Given the description of an element on the screen output the (x, y) to click on. 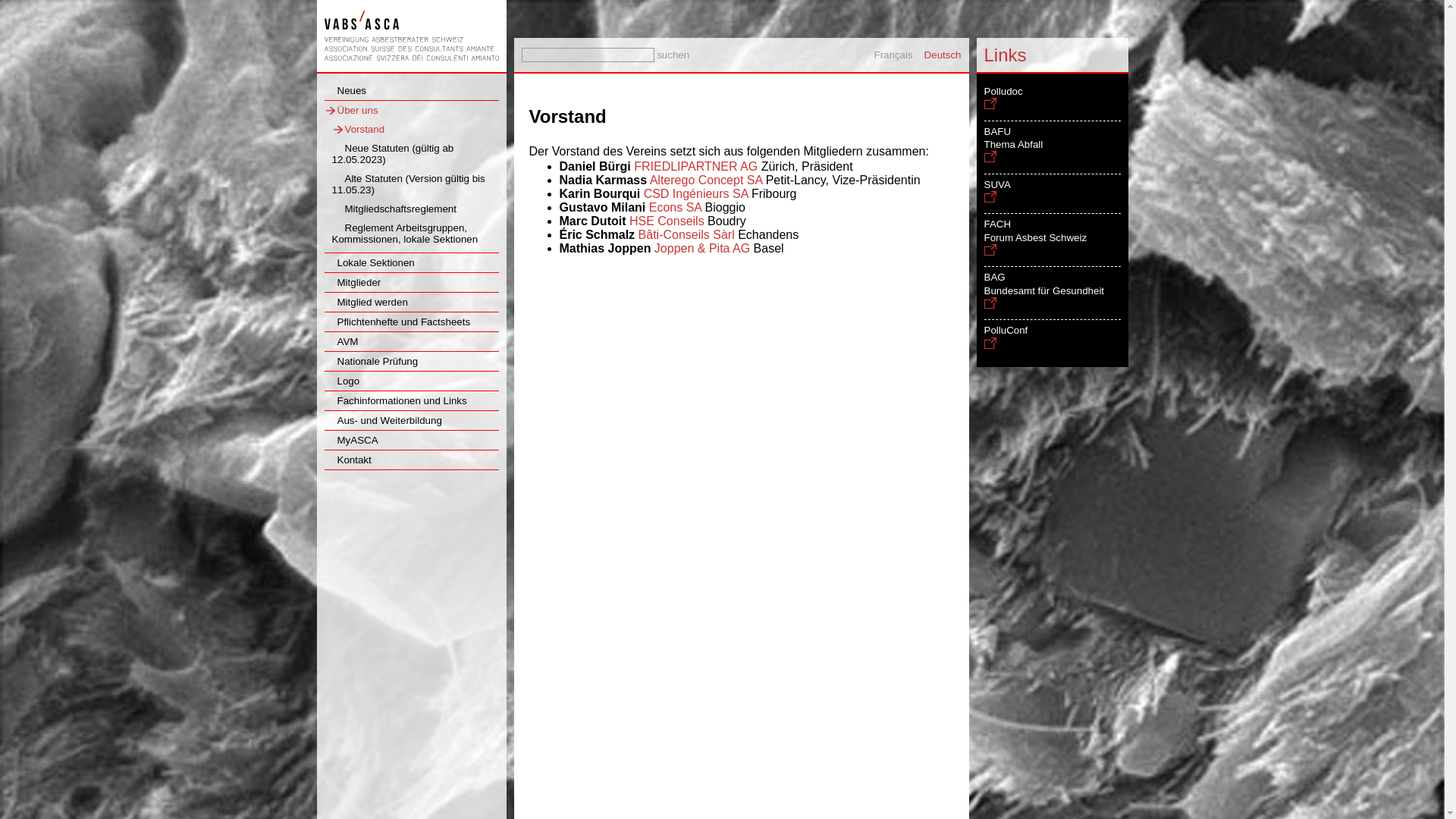
Deutsch Element type: text (942, 53)
Alterego Concept SA Element type: text (705, 179)
Mitglieder Element type: text (352, 282)
Mitglied werden Element type: text (365, 301)
Lokale Sektionen Element type: text (369, 262)
suchen Element type: text (672, 53)
Mitgliedschaftsreglement Element type: text (394, 208)
Econs SA Element type: text (675, 206)
Pflichtenhefte und Factsheets Element type: text (397, 321)
Fachinformationen und Links Element type: text (395, 400)
Kontakt Element type: text (347, 459)
suchen Element type: text (21, 7)
Logo Element type: text (342, 380)
Neues Element type: text (345, 90)
FRIEDLIPARTNER AG Element type: text (695, 166)
Aus- und Weiterbildung Element type: text (383, 420)
Vorstand Element type: text (358, 128)
AVM Element type: text (341, 341)
MyASCA Element type: text (351, 439)
HSE Conseils Element type: text (666, 220)
Reglement Arbeitsgruppen, Kommissionen, lokale Sektionen Element type: text (405, 233)
Joppen & Pita AG Element type: text (701, 247)
